Given the description of an element on the screen output the (x, y) to click on. 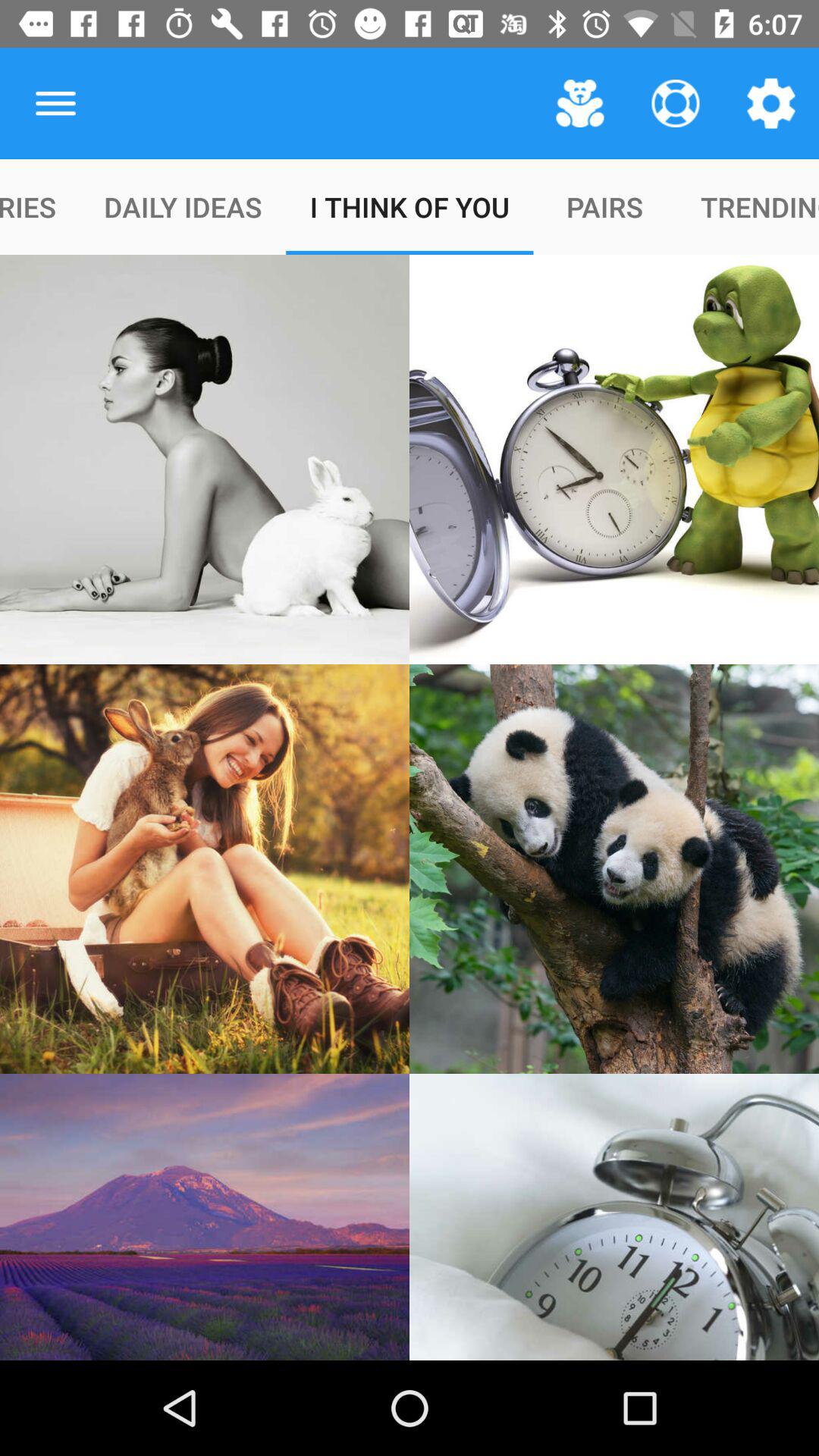
tap icon next to (579, 103)
